Given the description of an element on the screen output the (x, y) to click on. 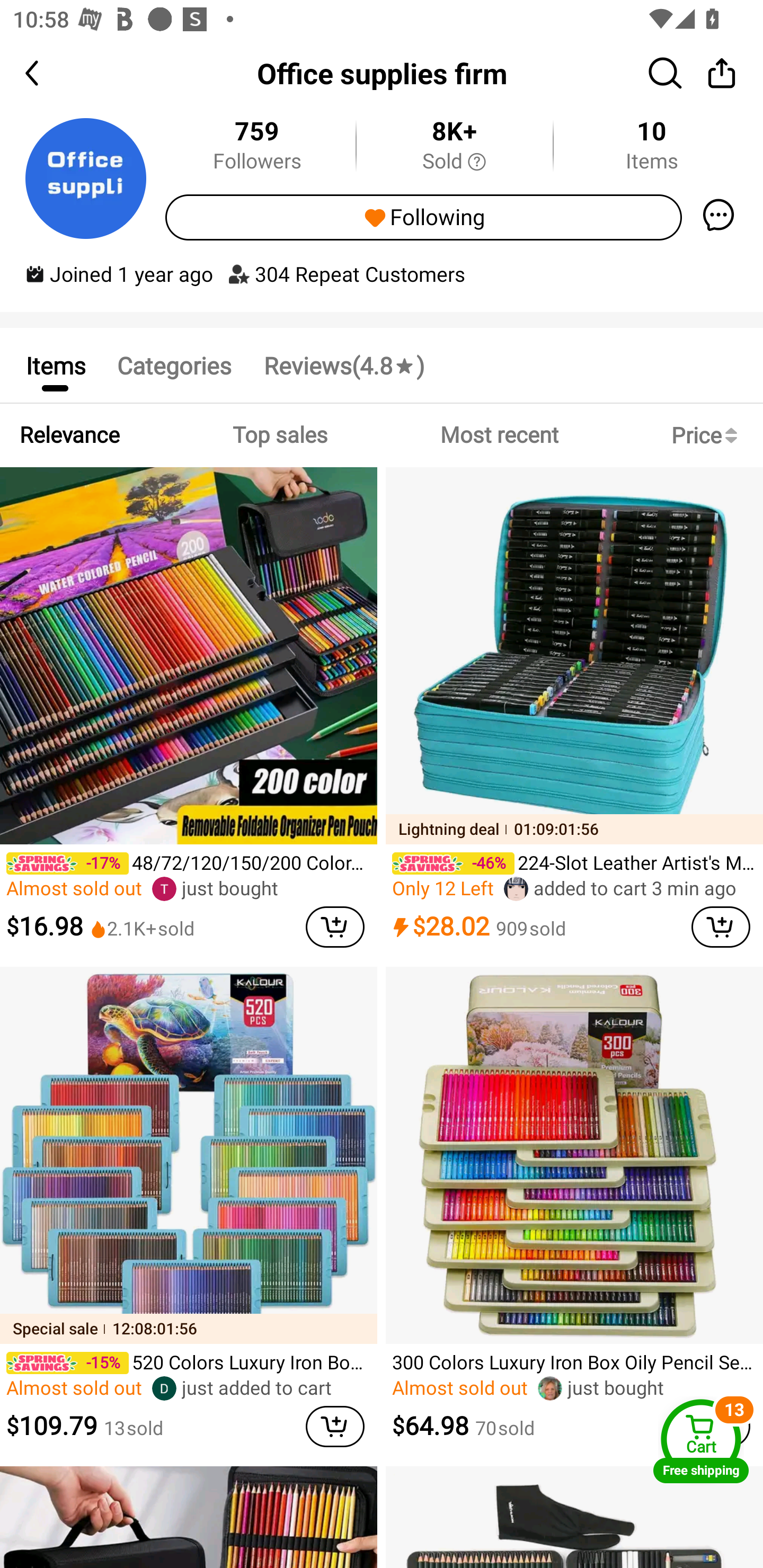
back (47, 72)
share (721, 72)
Sold (453, 161)
Items (55, 364)
Categories (174, 364)
Reviews(4.8 ) (343, 364)
Relevance (69, 434)
Top sales (279, 434)
Most recent (498, 434)
Price (707, 434)
cart delete (334, 926)
cart delete (720, 926)
Cart Free shipping Cart (701, 1440)
cart delete (334, 1426)
